Given the description of an element on the screen output the (x, y) to click on. 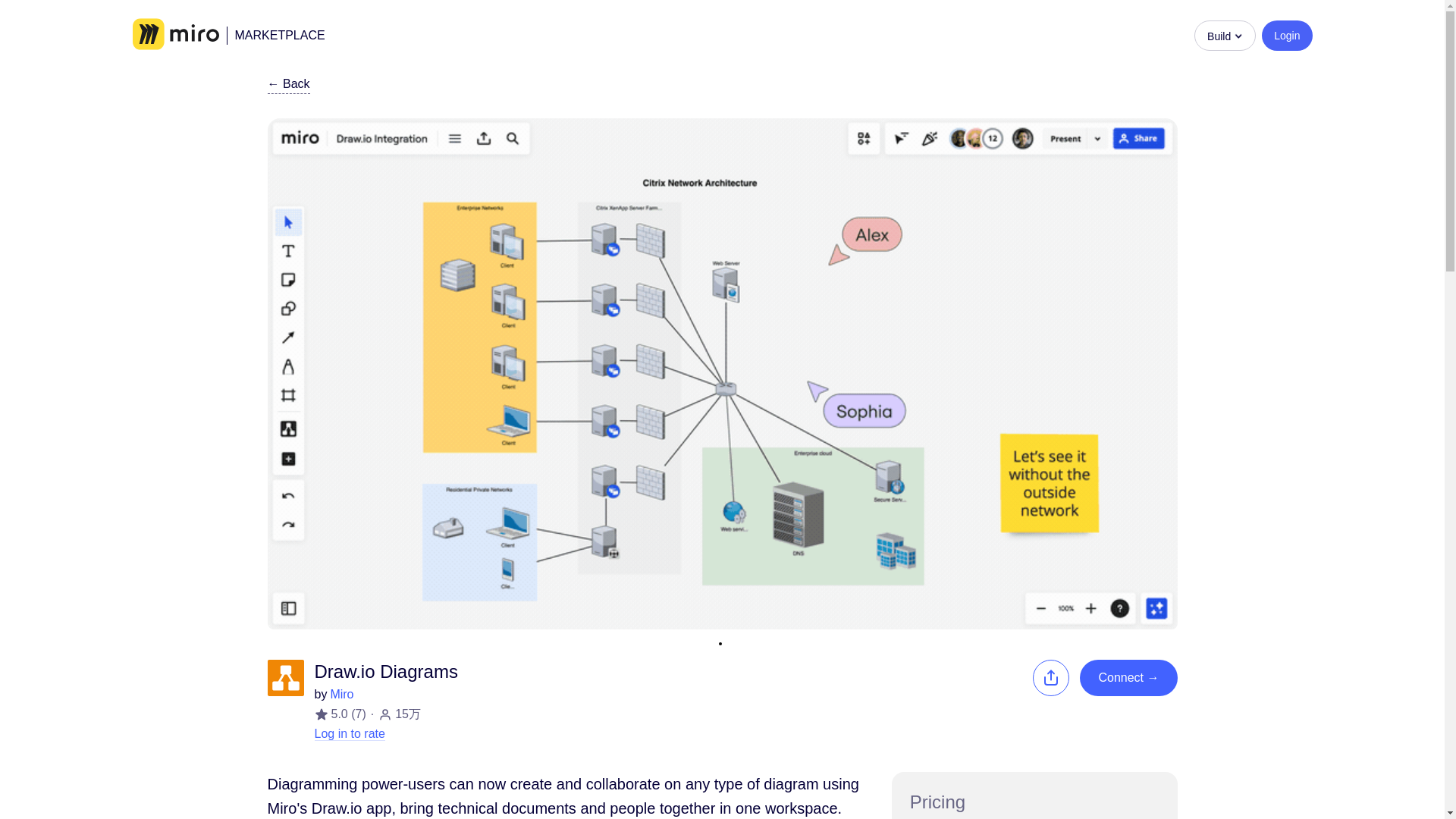
Miro App Marketplace (274, 34)
MARKETPLACE (274, 34)
Miro (175, 35)
Miro (341, 694)
Log in to rate (349, 734)
Login (1286, 34)
Build (1224, 34)
